Given the description of an element on the screen output the (x, y) to click on. 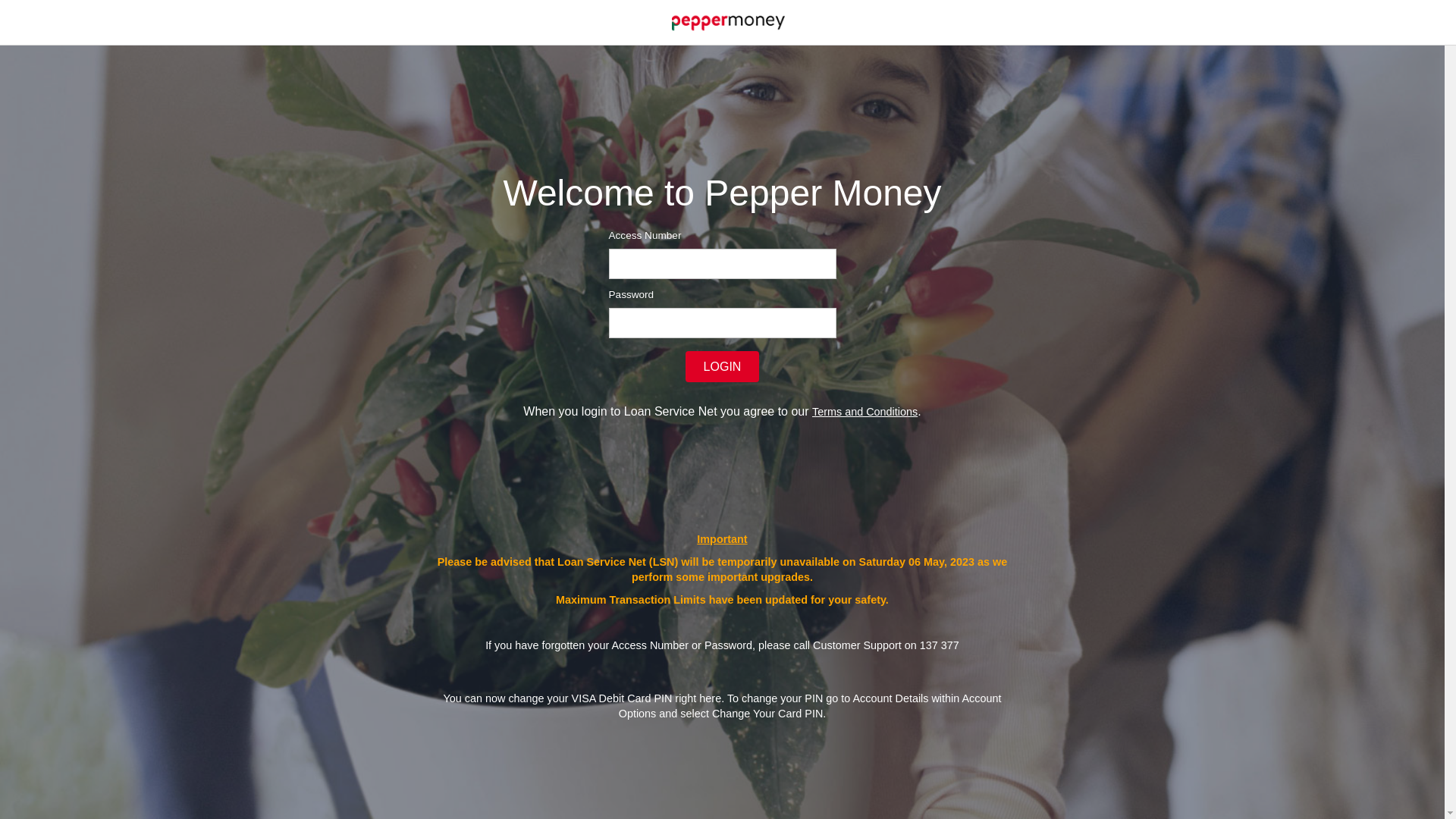
LOGIN Element type: text (722, 366)
Version: v3.0.8 22-06-17 (LSNAMSPRD) Element type: hover (727, 21)
Terms and Conditions Element type: text (864, 411)
